Given the description of an element on the screen output the (x, y) to click on. 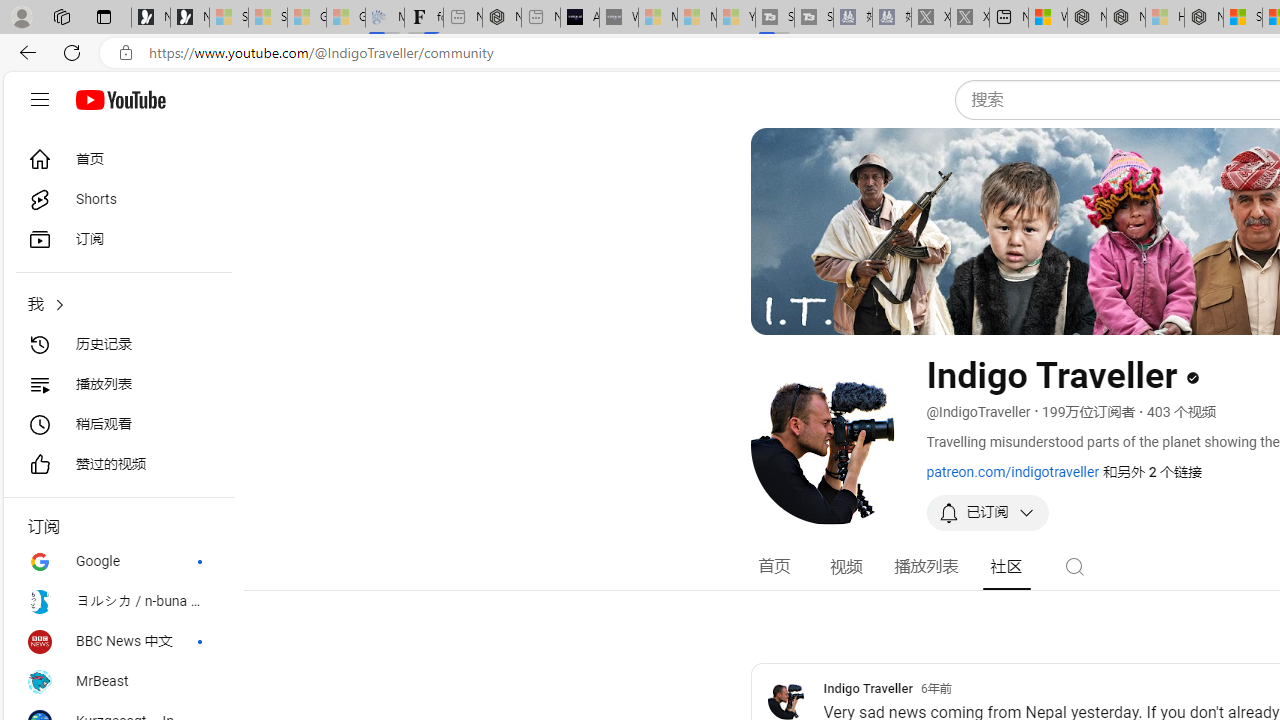
patreon.com/indigotraveller (1012, 471)
Newsletter Sign Up (189, 17)
MrBeast (117, 681)
Microsoft Start - Sleeping (696, 17)
AI Voice Changer for PC and Mac - Voice.ai (579, 17)
